Given the description of an element on the screen output the (x, y) to click on. 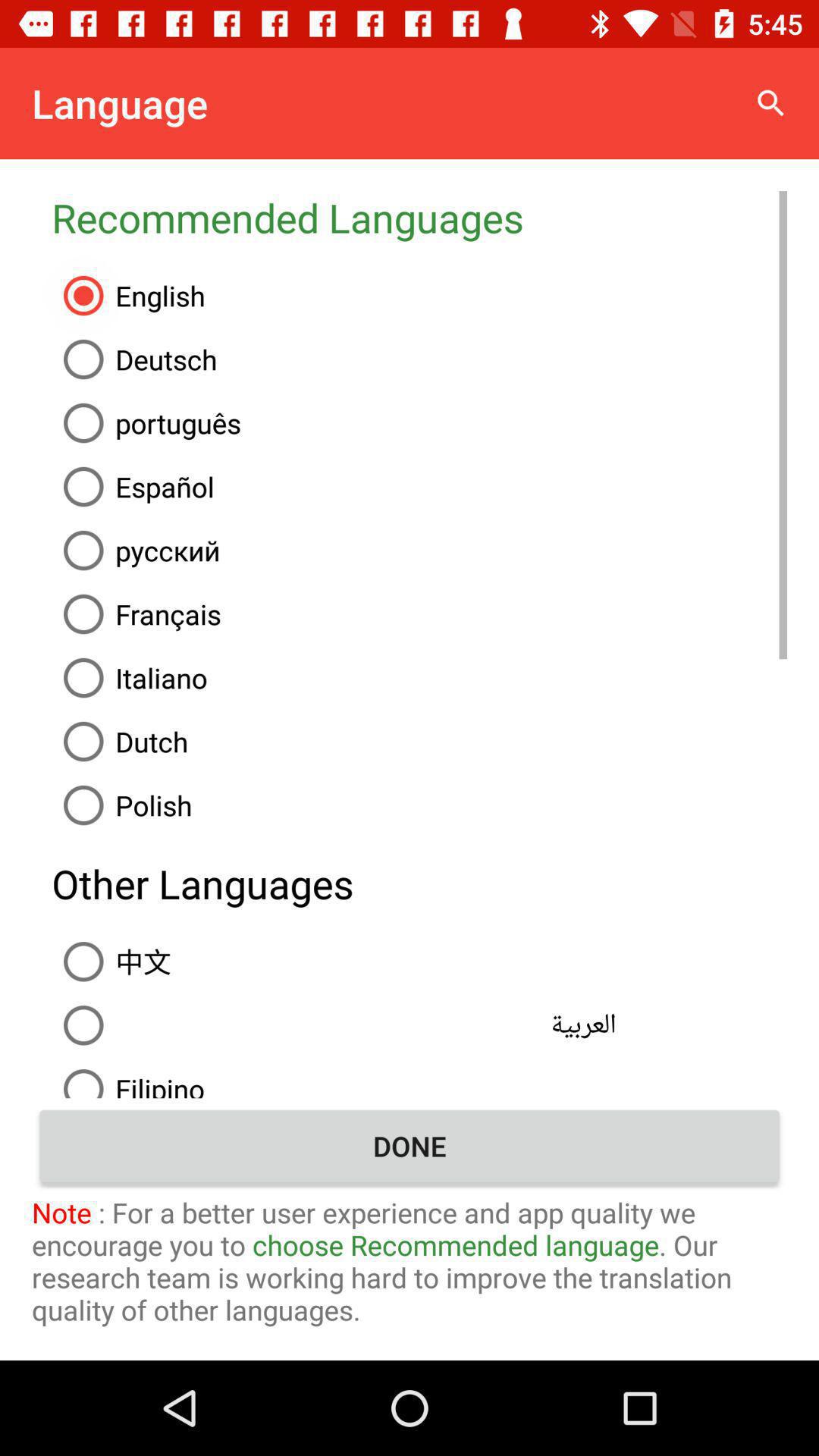
tap the icon above the other languages (419, 805)
